Given the description of an element on the screen output the (x, y) to click on. 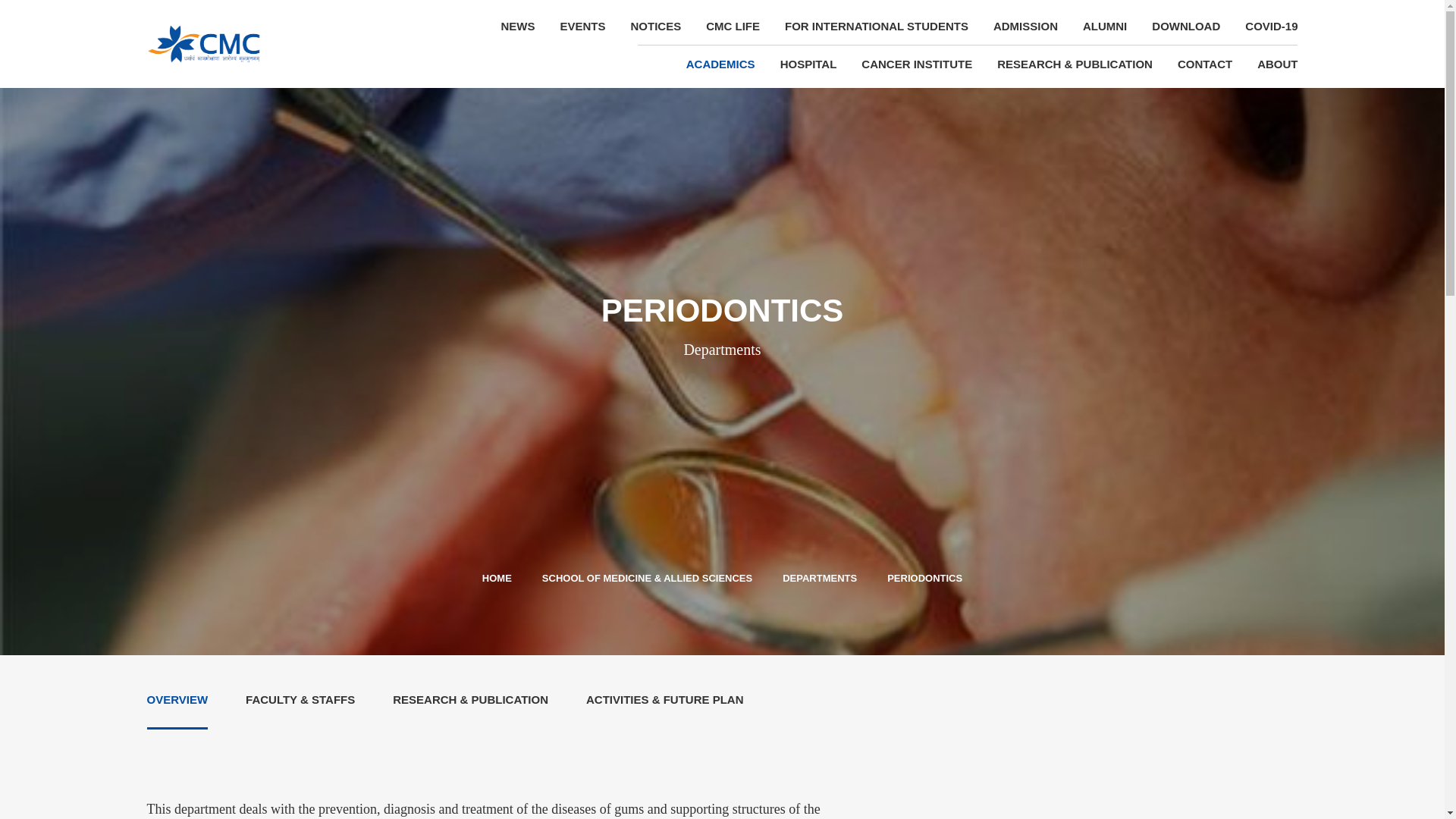
ALUMNI (1104, 26)
CANCER INSTITUTE (916, 64)
CMC LIFE (733, 26)
ACADEMICS (719, 64)
DEPARTMENTS (820, 577)
ABOUT (1271, 64)
COVID-19 (1265, 26)
CONTACT (1204, 64)
OVERVIEW (177, 699)
ADMISSION (1024, 26)
